Given the description of an element on the screen output the (x, y) to click on. 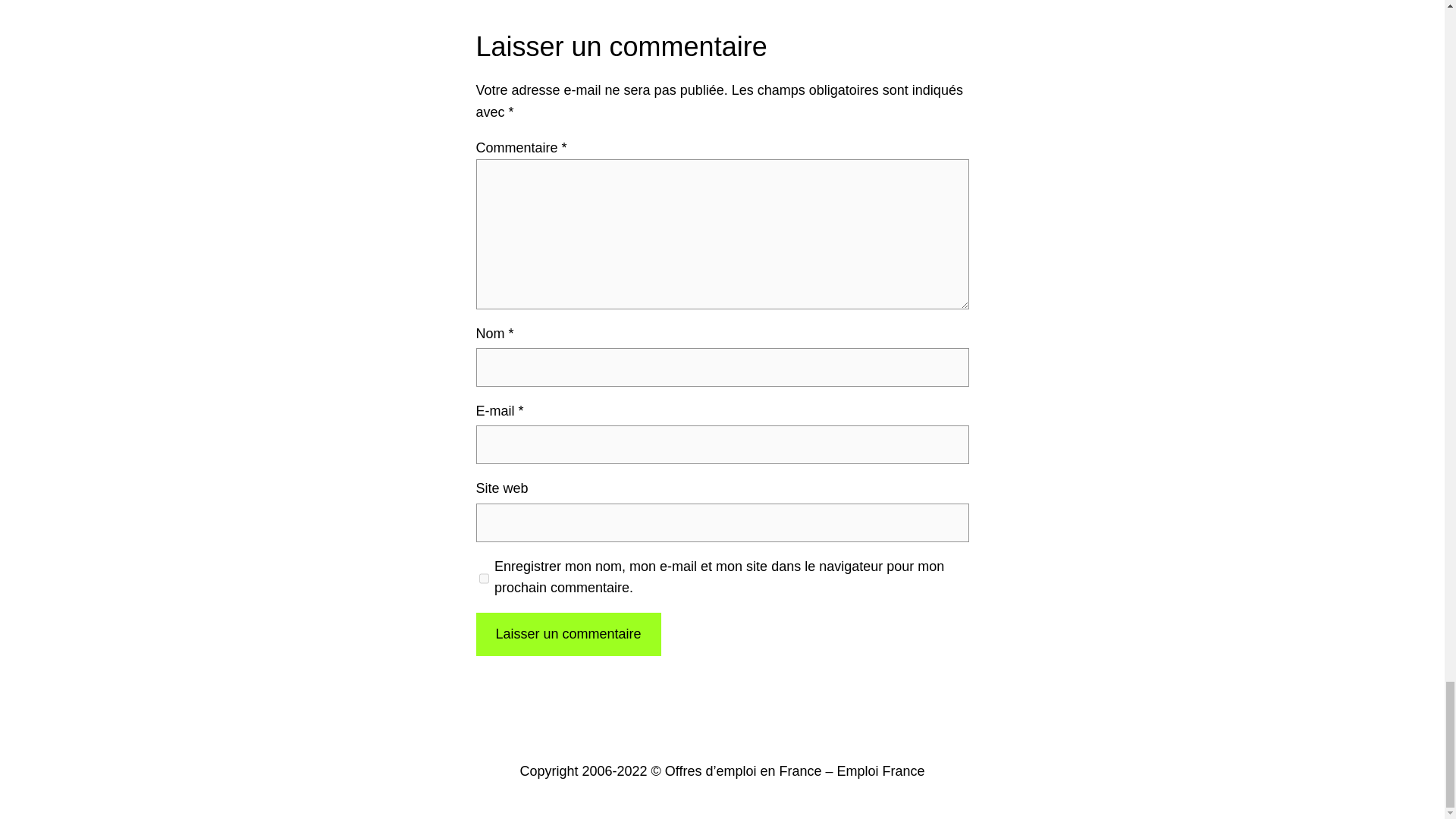
Laisser un commentaire (568, 634)
Laisser un commentaire (568, 634)
